Given the description of an element on the screen output the (x, y) to click on. 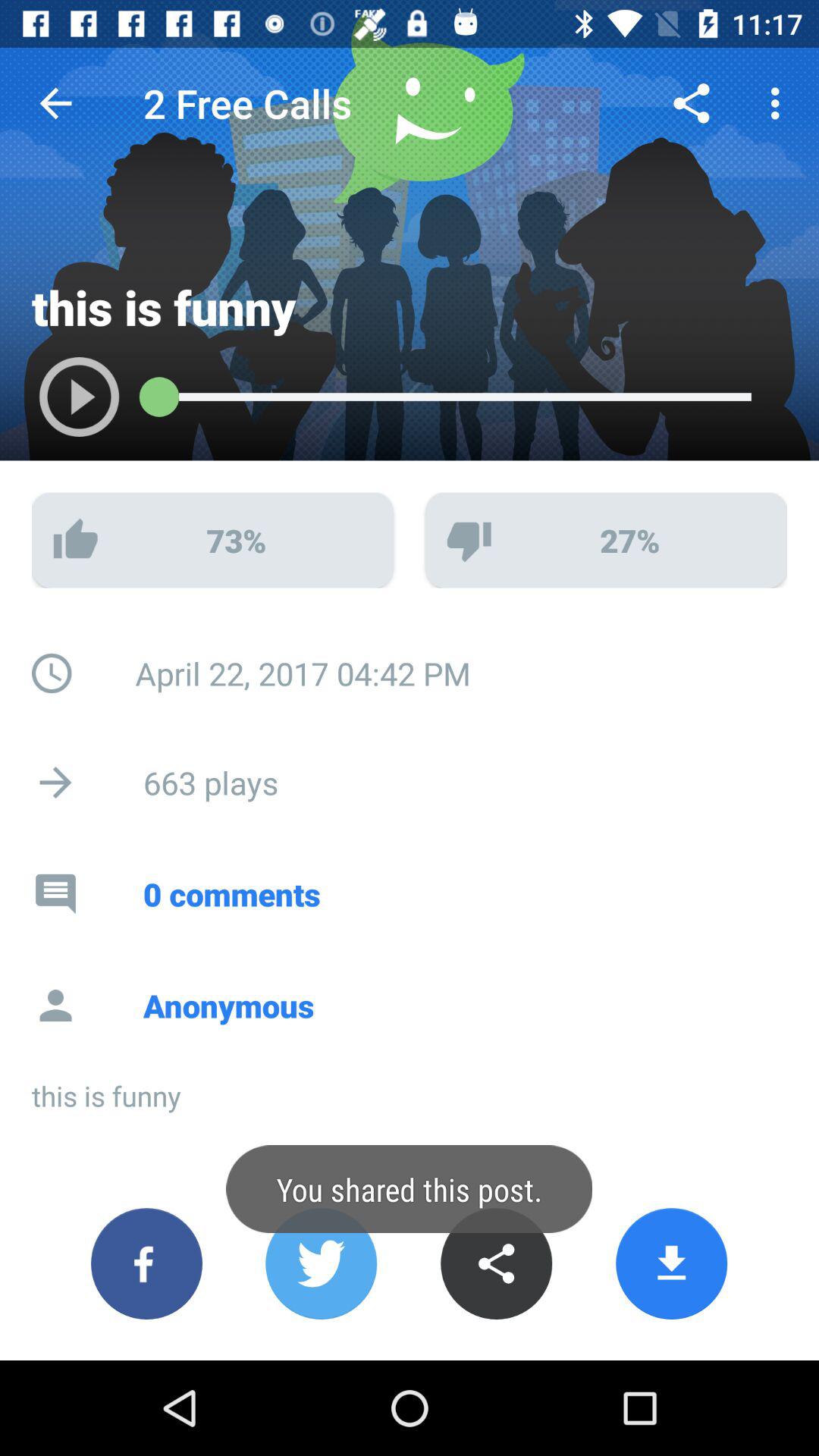
play song (63, 404)
